Given the description of an element on the screen output the (x, y) to click on. 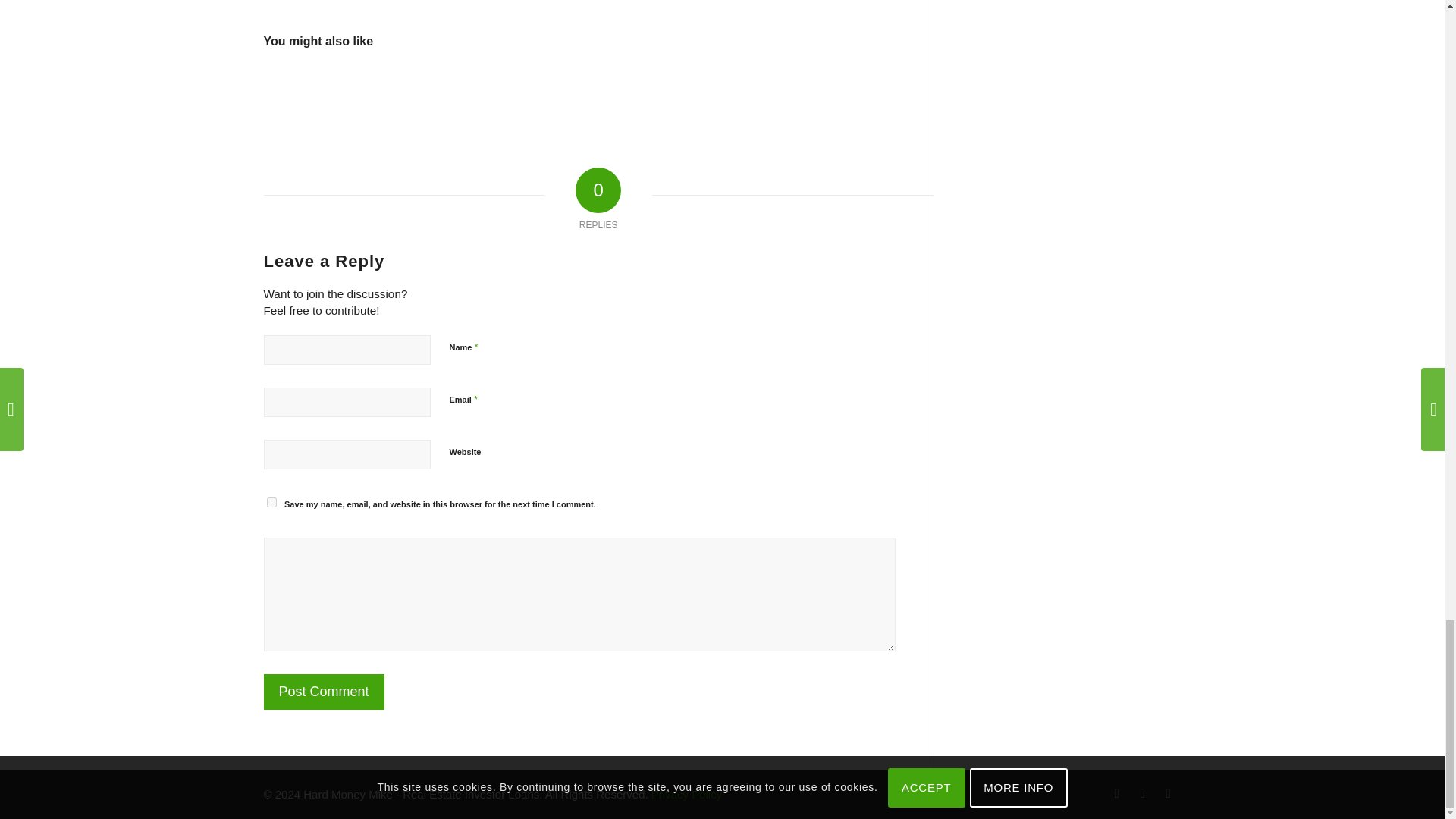
yes (271, 501)
Post Comment (323, 692)
